Given the description of an element on the screen output the (x, y) to click on. 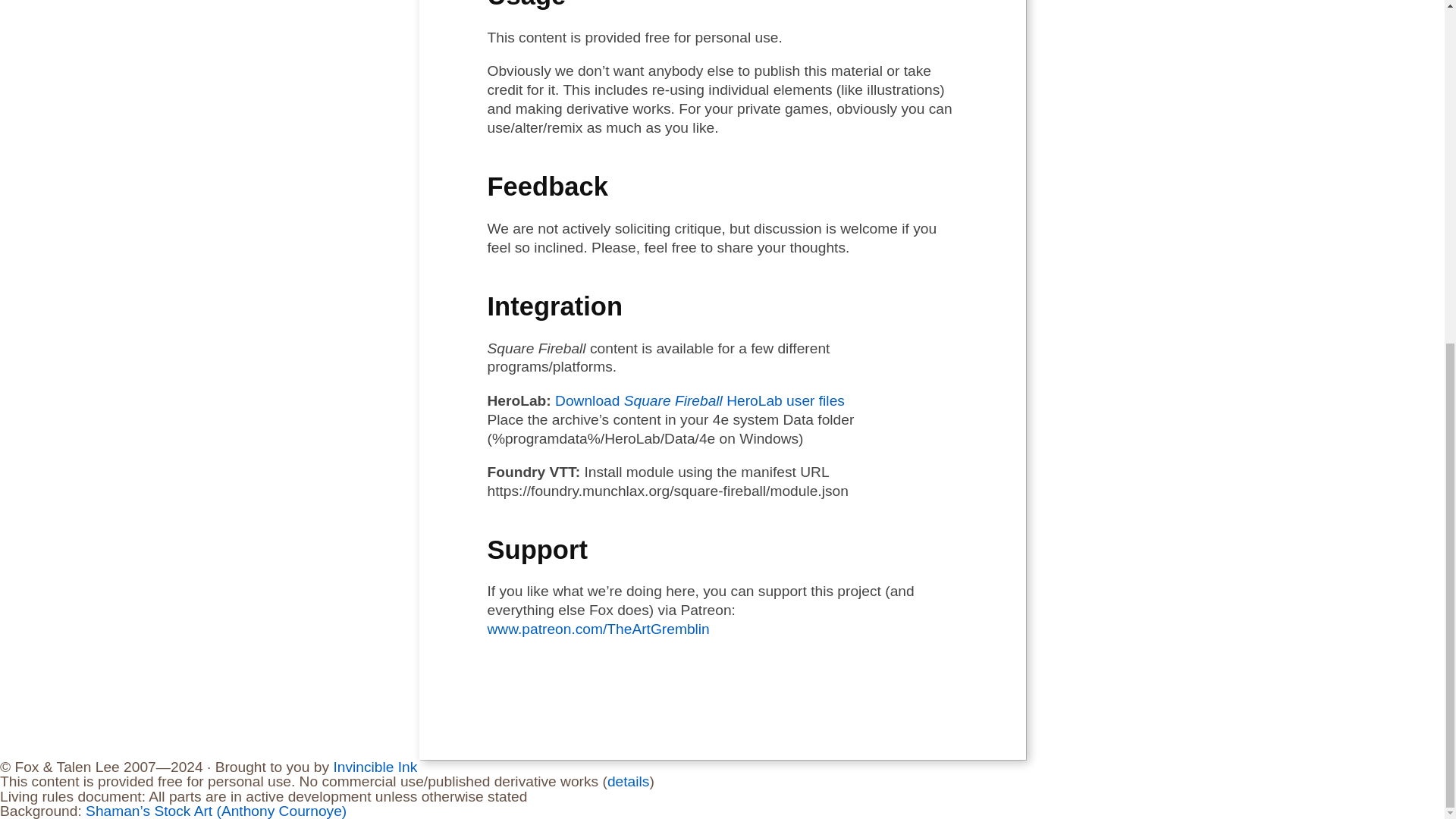
Invincible Ink (374, 766)
Download Square Fireball HeroLab user files (699, 400)
details (628, 781)
